Given the description of an element on the screen output the (x, y) to click on. 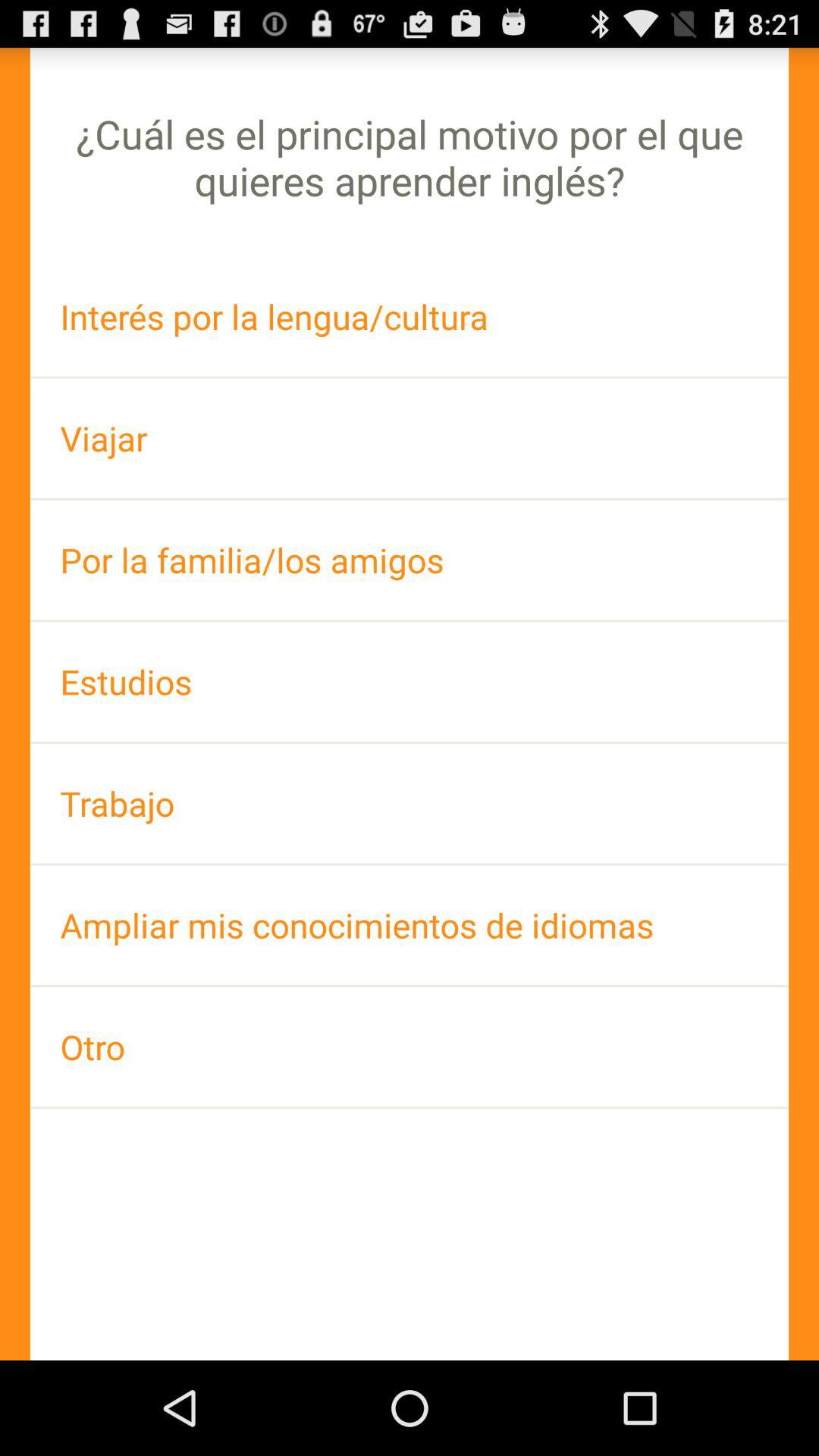
flip until trabajo app (409, 803)
